Given the description of an element on the screen output the (x, y) to click on. 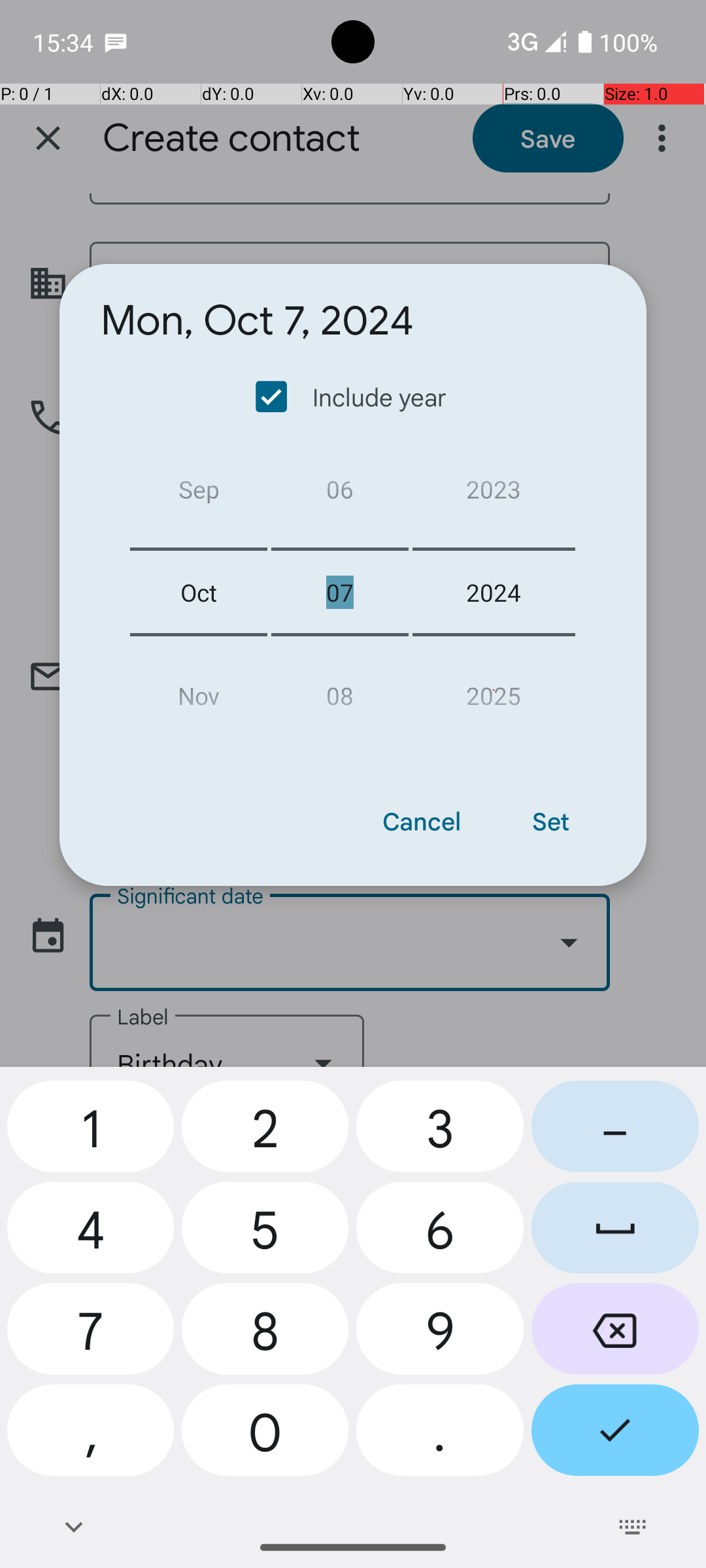
Mon, Oct 7, 2024 Element type: android.widget.TextView (257, 320)
Include year Element type: android.widget.CheckBox (351, 396)
Sep Element type: android.widget.Button (198, 493)
Oct Element type: android.widget.EditText (198, 591)
Nov Element type: android.widget.Button (198, 689)
06 Element type: android.widget.Button (339, 493)
07 Element type: android.widget.EditText (339, 591)
08 Element type: android.widget.Button (339, 689)
2024 Element type: android.widget.EditText (493, 591)
2025 Element type: android.widget.Button (493, 689)
Set Element type: android.widget.Button (550, 820)
Dash Element type: android.widget.FrameLayout (614, 1130)
